Given the description of an element on the screen output the (x, y) to click on. 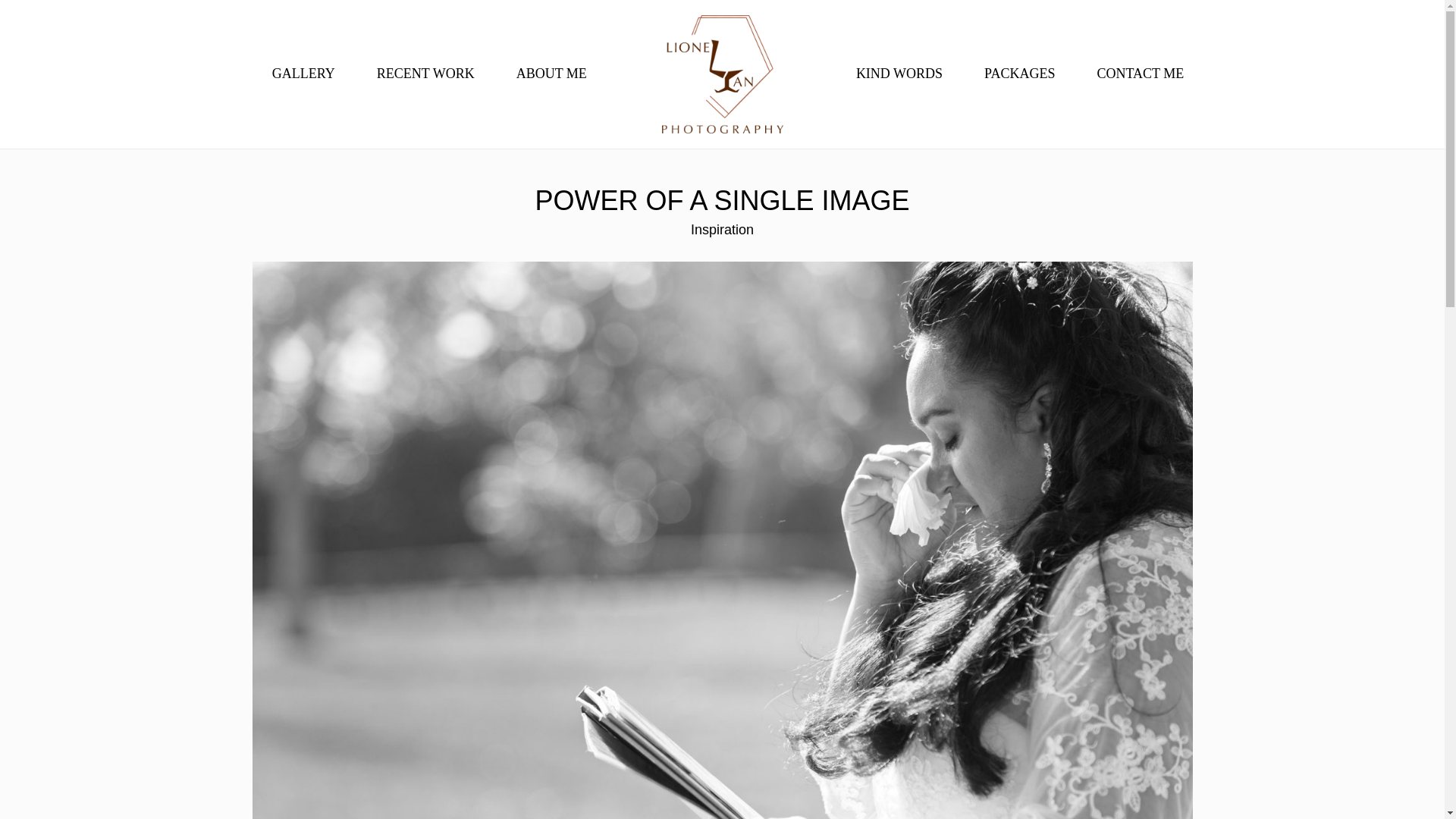
GALLERY (303, 74)
CONTACT ME (1139, 74)
KIND WORDS (899, 74)
PACKAGES (1019, 74)
RECENT WORK (425, 74)
ABOUT ME (551, 74)
Lionel Tan Photography (722, 74)
